Given the description of an element on the screen output the (x, y) to click on. 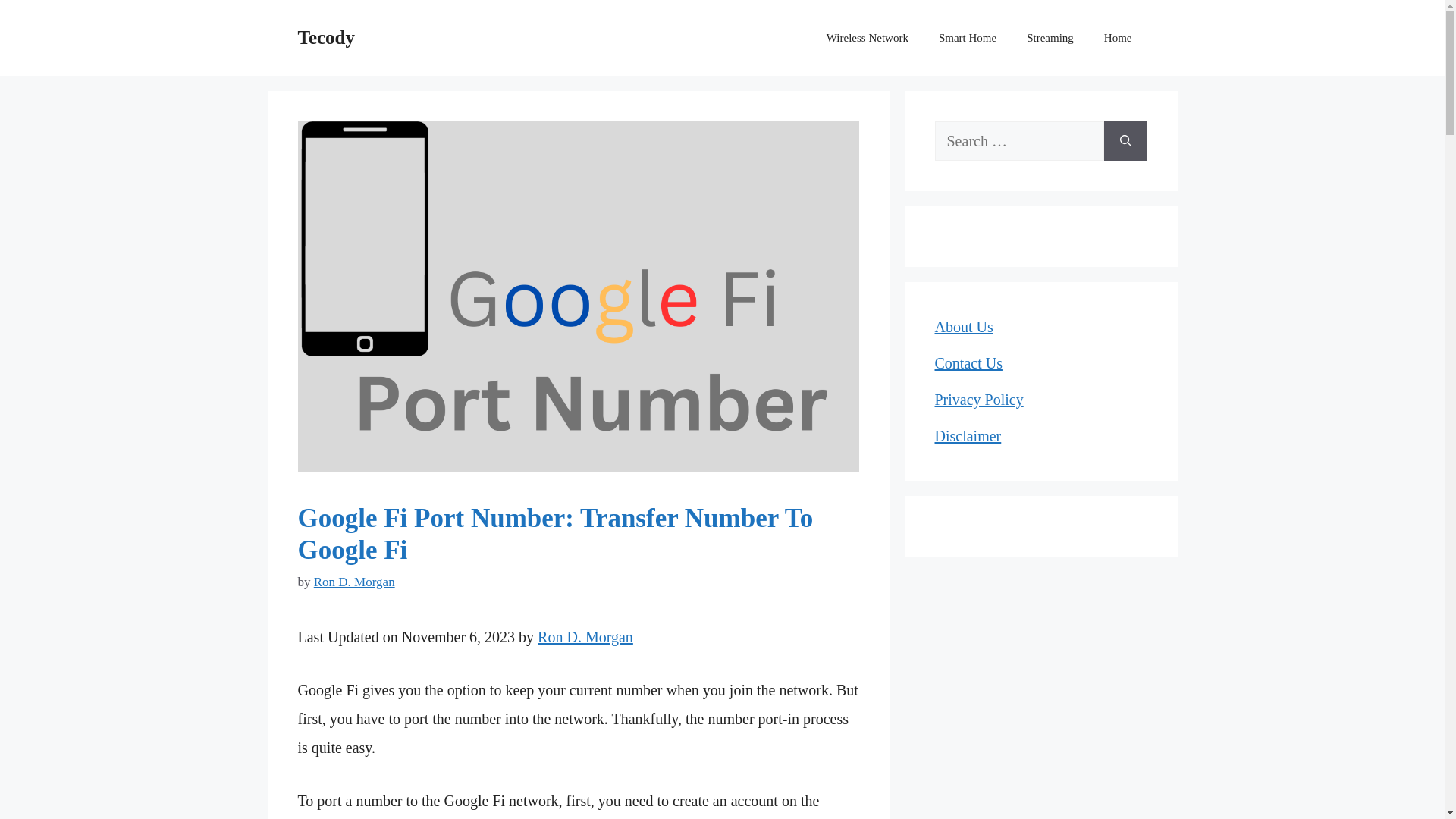
Home (1118, 37)
Smart Home (967, 37)
Ron D. Morgan (585, 636)
View all posts by Ron D. Morgan (354, 581)
Privacy Policy (978, 399)
Tecody (325, 37)
Streaming (1050, 37)
Disclaimer (967, 435)
Contact Us (967, 362)
About Us (963, 326)
Search for: (1018, 140)
Wireless Network (866, 37)
Ron D. Morgan (354, 581)
